Given the description of an element on the screen output the (x, y) to click on. 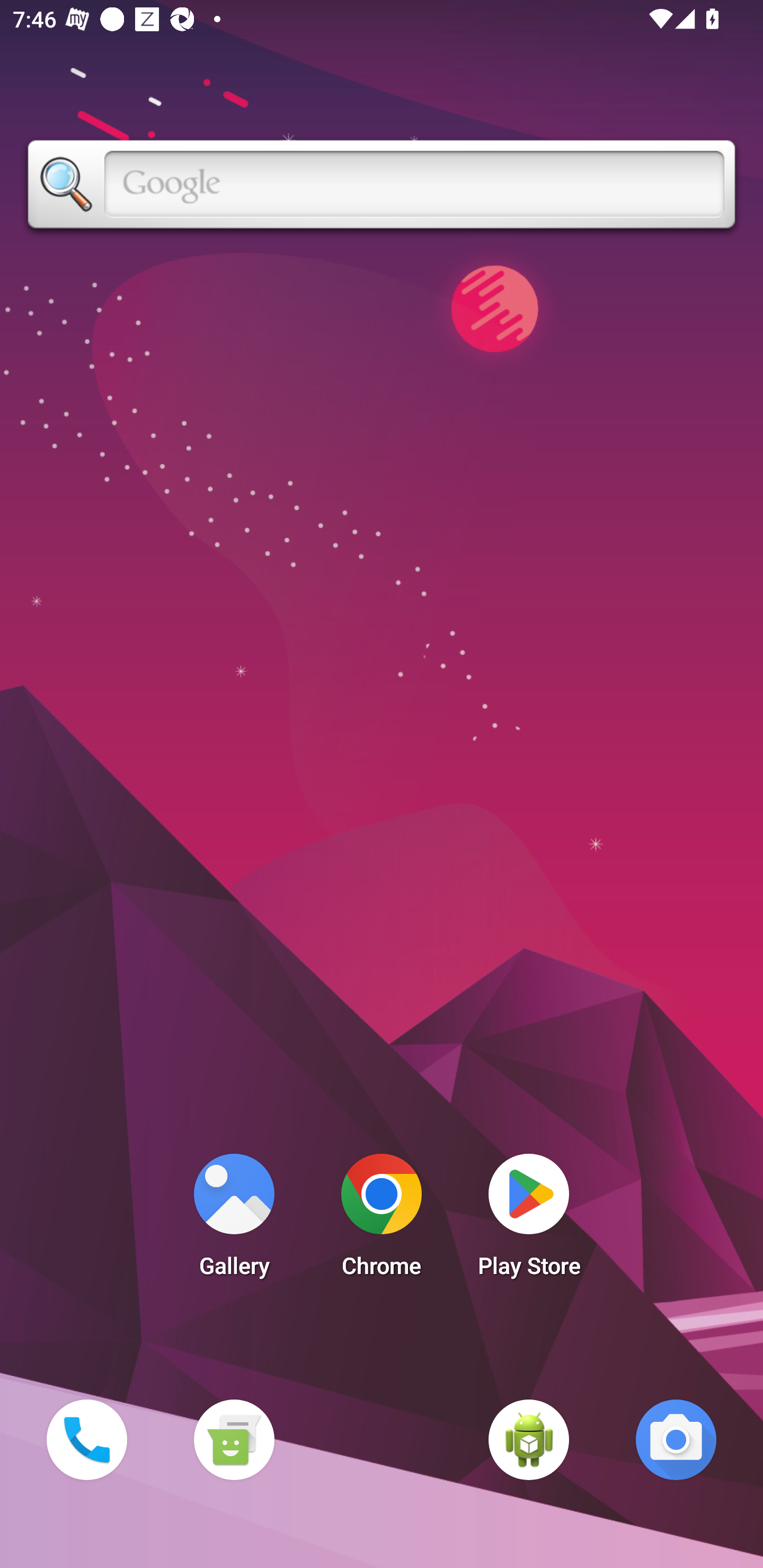
Gallery (233, 1220)
Chrome (381, 1220)
Play Store (528, 1220)
Phone (86, 1439)
Messaging (233, 1439)
WebView Browser Tester (528, 1439)
Camera (676, 1439)
